Given the description of an element on the screen output the (x, y) to click on. 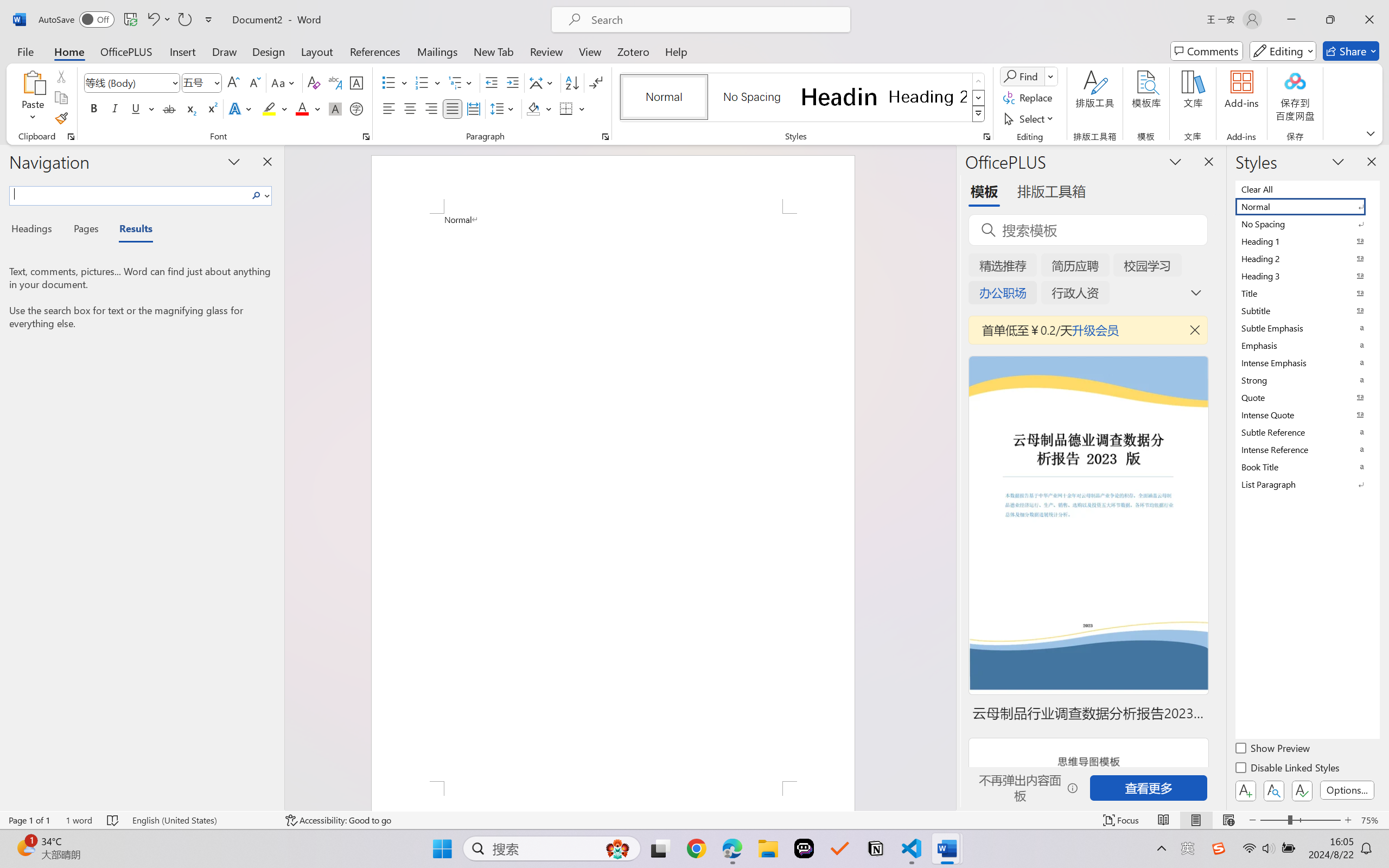
View (589, 51)
Find (1029, 75)
Copy (60, 97)
Intense Quote (1306, 414)
Page 1 content (612, 497)
Clear All (1306, 188)
Text Highlight Color Yellow (269, 108)
Class: NetUIScrollBar (948, 477)
Pages (85, 229)
Character Shading (334, 108)
Zoom In (1348, 819)
Find (1022, 75)
Font Color (308, 108)
